Given the description of an element on the screen output the (x, y) to click on. 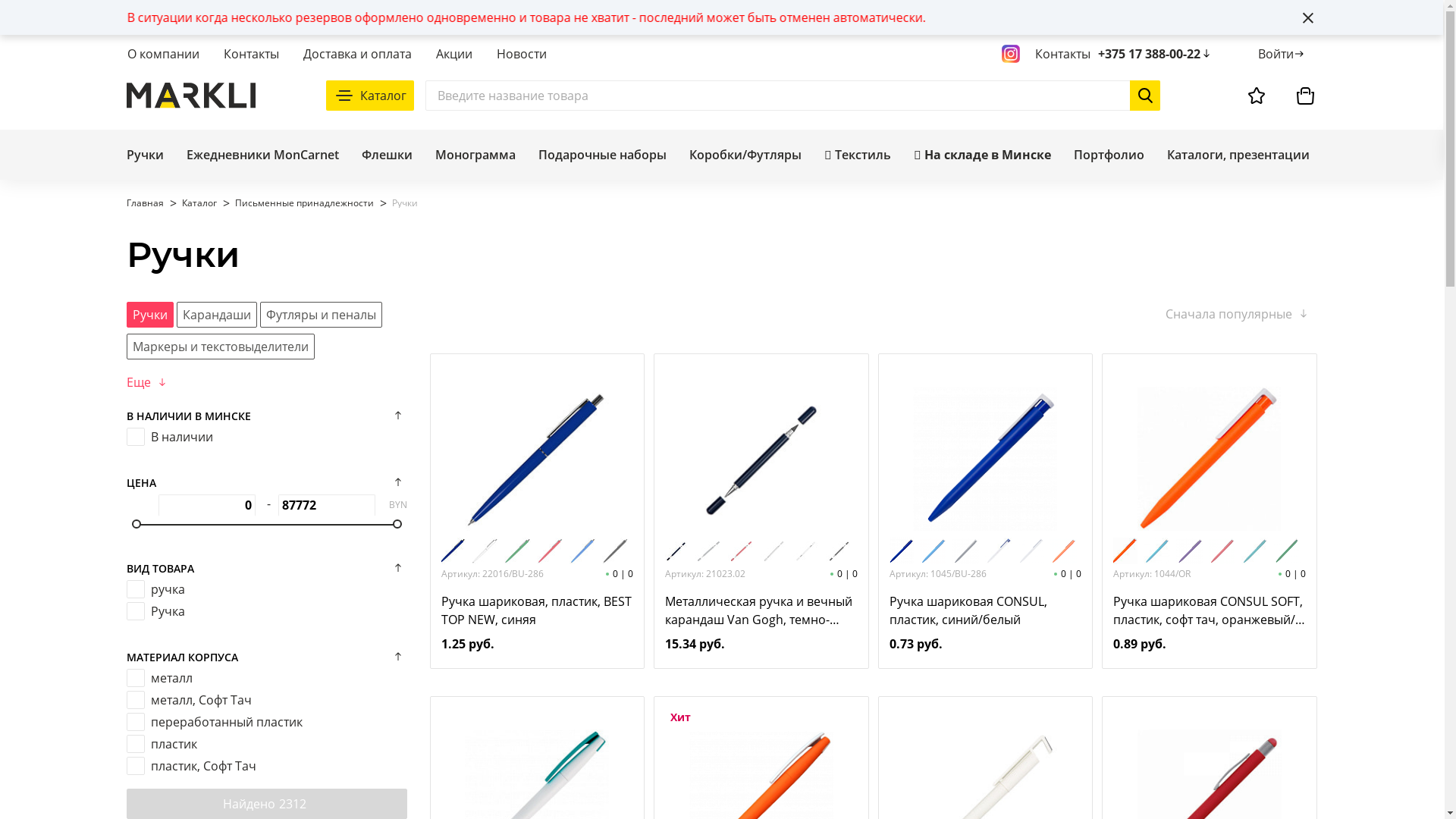
+375 17 388-00-22 Element type: text (1155, 53)
